Given the description of an element on the screen output the (x, y) to click on. 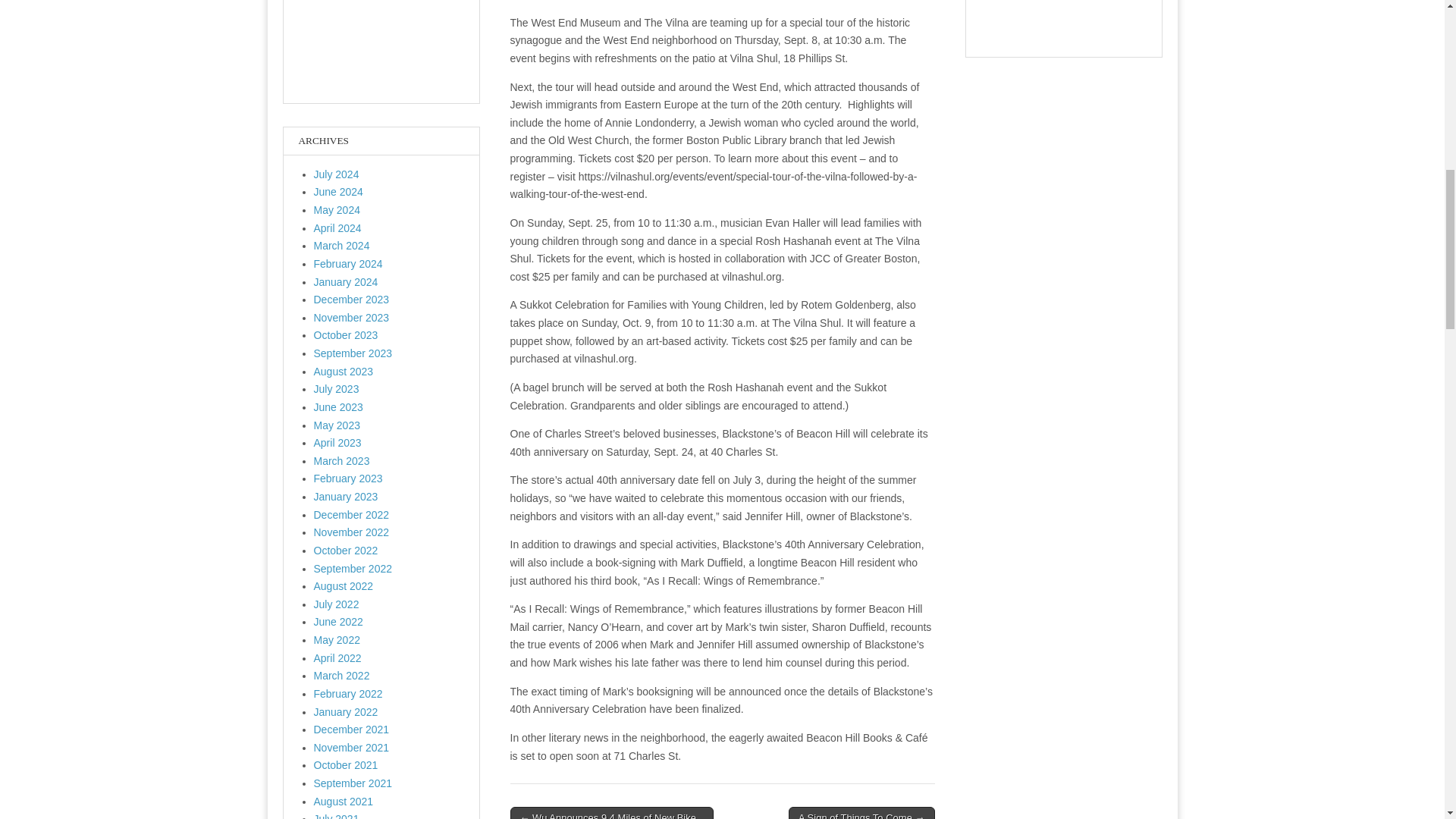
April 2024 (337, 227)
January 2024 (346, 282)
February 2024 (348, 263)
July 2024 (336, 174)
June 2024 (338, 191)
March 2024 (341, 245)
May 2024 (336, 209)
December 2023 (352, 299)
